Given the description of an element on the screen output the (x, y) to click on. 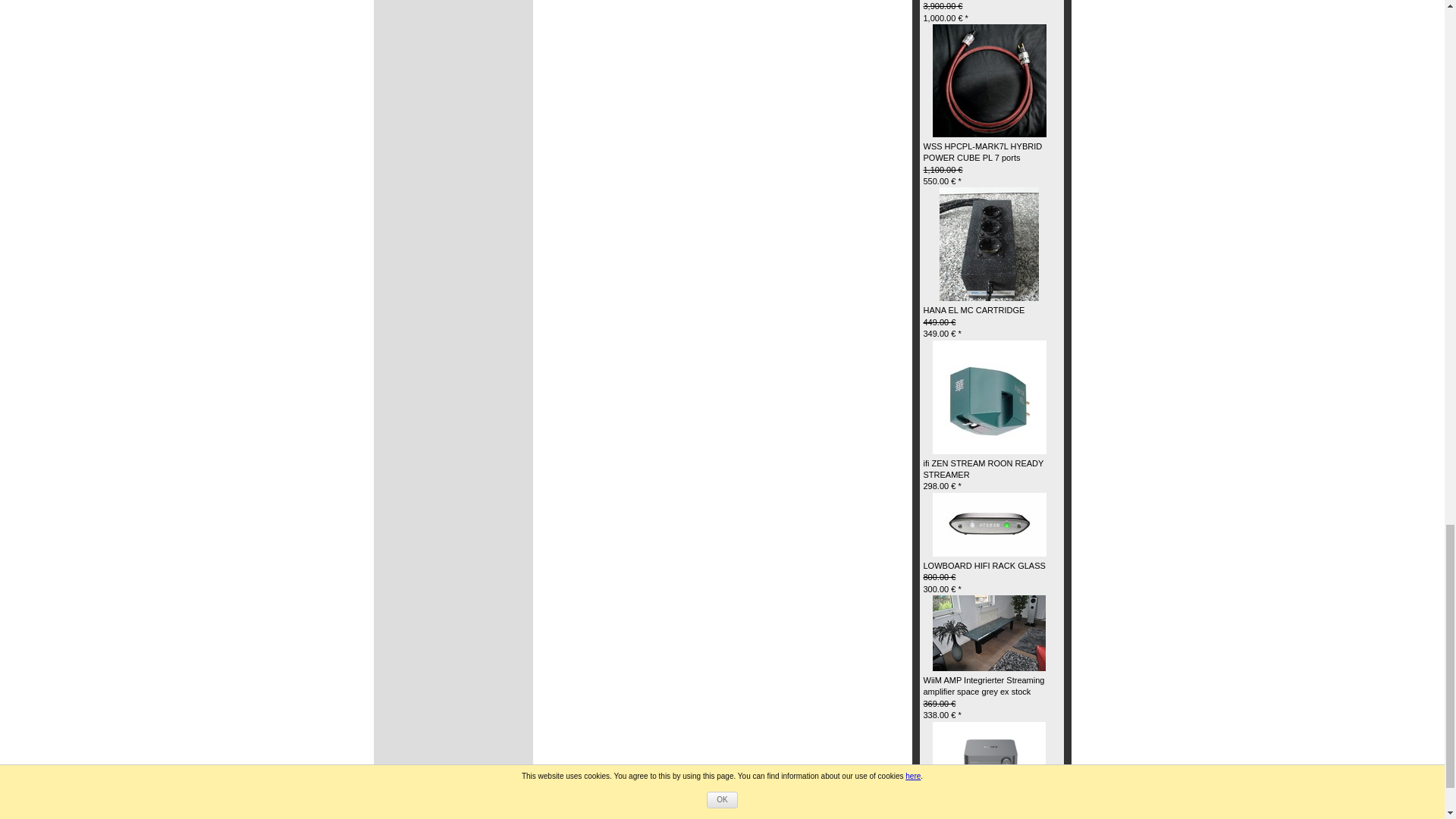
Go to product (989, 79)
Go to product (989, 396)
Go to product (989, 243)
